Given the description of an element on the screen output the (x, y) to click on. 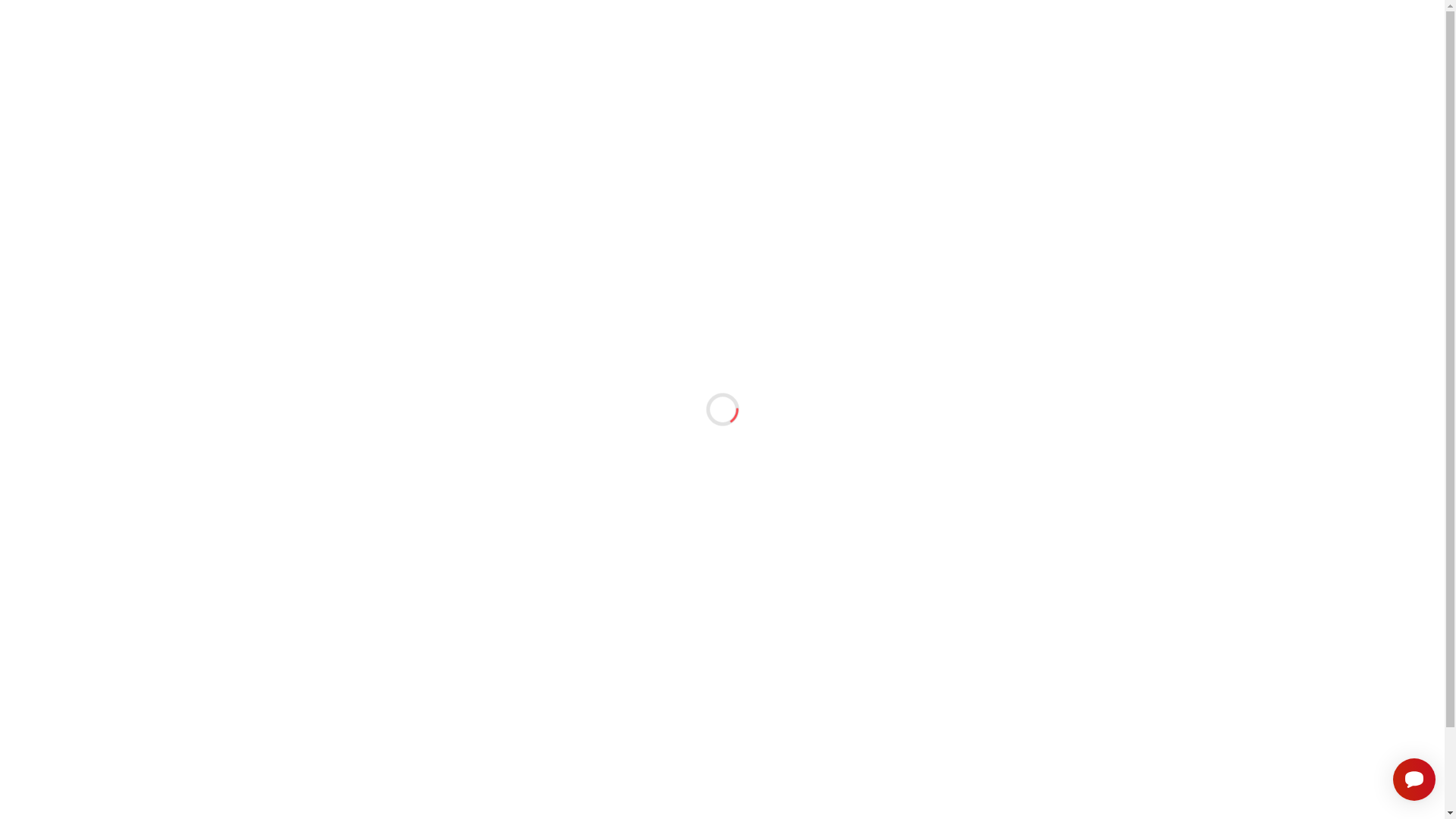
ORGANIZATIONS Element type: text (918, 49)
(4) - Controle Limbourg Element type: text (949, 313)
MyBrevet Element type: text (384, 49)
Smartsupp widget button Element type: hover (1414, 779)
(6) - Stayokay Element type: text (926, 341)
CHALLENGES Element type: text (794, 49)
(2) - Controle Coo Element type: text (936, 285)
Cyclo4Cancer Element type: text (540, 791)
(5) - Controle Sourbrodt Element type: text (950, 326)
facebook Element type: hover (1127, 792)
REGISTER Element type: text (1099, 49)
Privacy Policy Element type: text (333, 808)
Randonneurs.nl Element type: text (394, 99)
Home Element type: text (327, 99)
Home Element type: text (315, 788)
Randonneurs.nl Element type: text (747, 791)
HOME Element type: text (701, 49)
Download GPX Element type: text (1010, 153)
Follow us for the latest news Element type: text (393, 13)
EN Element type: text (1119, 13)
LOGIN Element type: text (1020, 49)
